Given the description of an element on the screen output the (x, y) to click on. 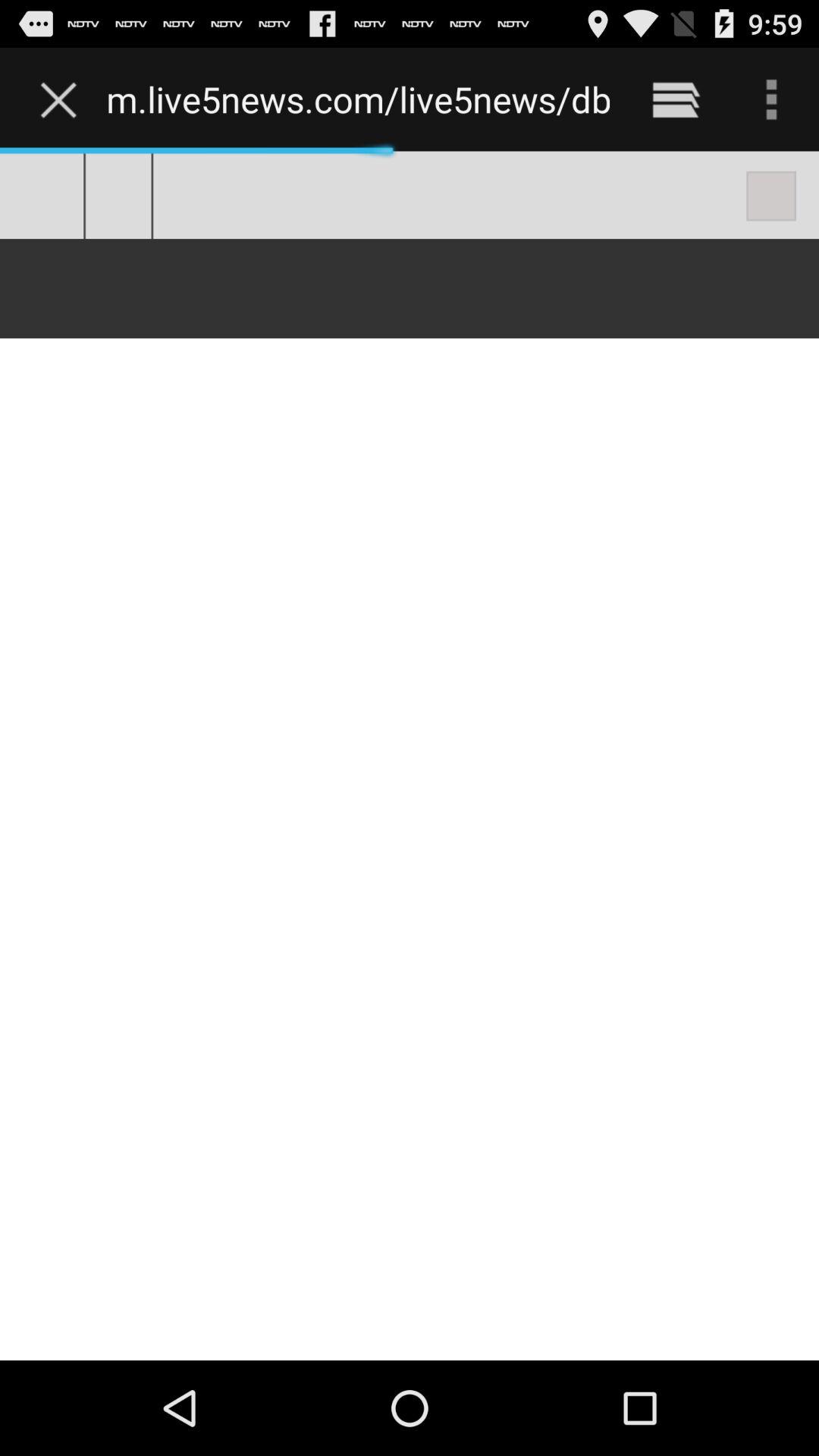
flip to the m live5news com item (357, 99)
